Given the description of an element on the screen output the (x, y) to click on. 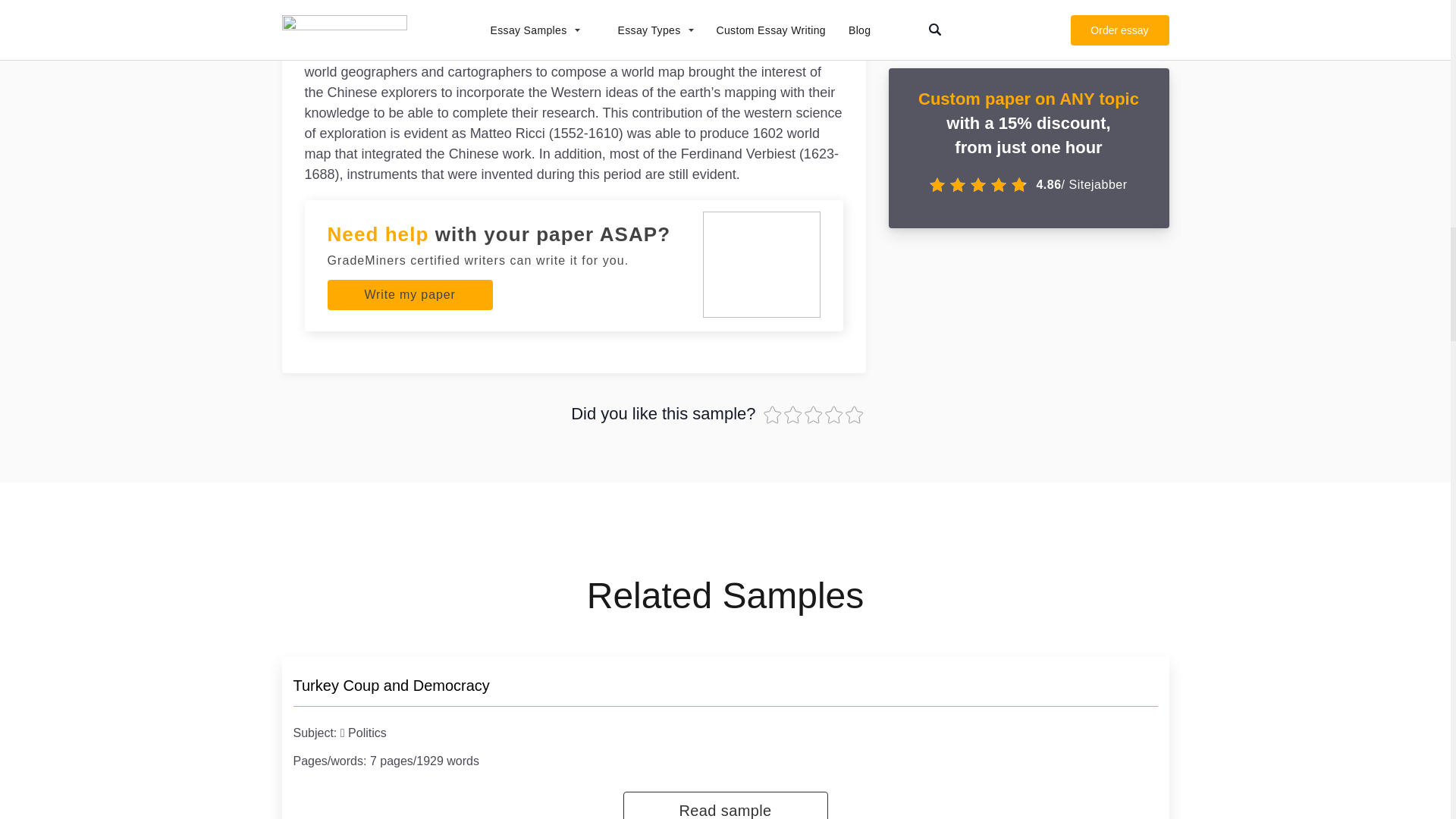
19 votes, average: 4,6 out of 5 (813, 414)
19 votes, average: 4,6 out of 5 (835, 414)
19 votes, average: 4,6 out of 5 (854, 414)
Turkey Coup and Democracy (390, 685)
19 votes, average: 4,6 out of 5 (772, 414)
19 votes, average: 4,6 out of 5 (794, 414)
